Given the description of an element on the screen output the (x, y) to click on. 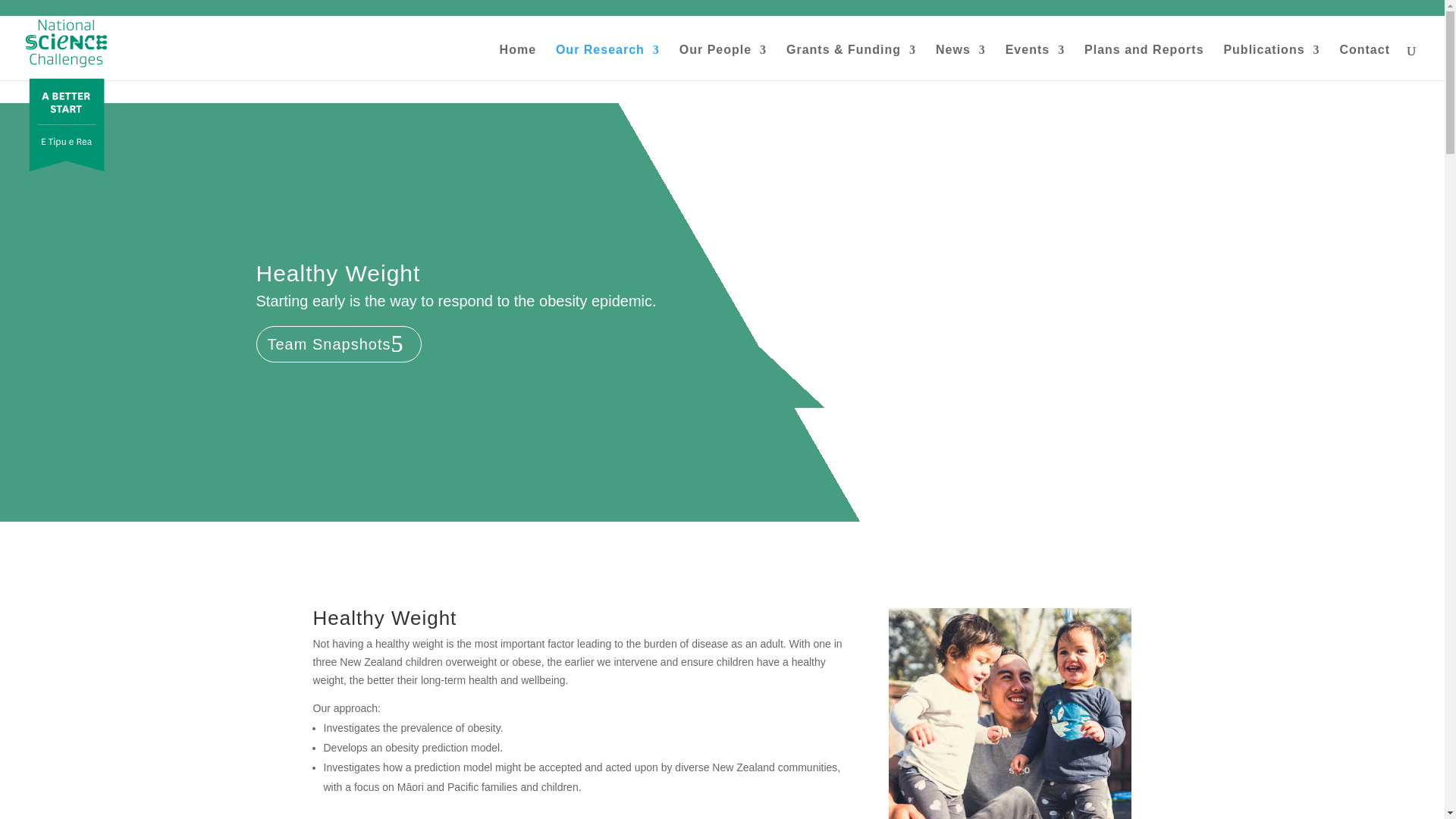
Contact (1364, 62)
News (960, 62)
Plans and Reports (1144, 62)
Home (517, 62)
Publications (1271, 62)
Our People (723, 62)
Events (1035, 62)
Our Research (607, 62)
